Given the description of an element on the screen output the (x, y) to click on. 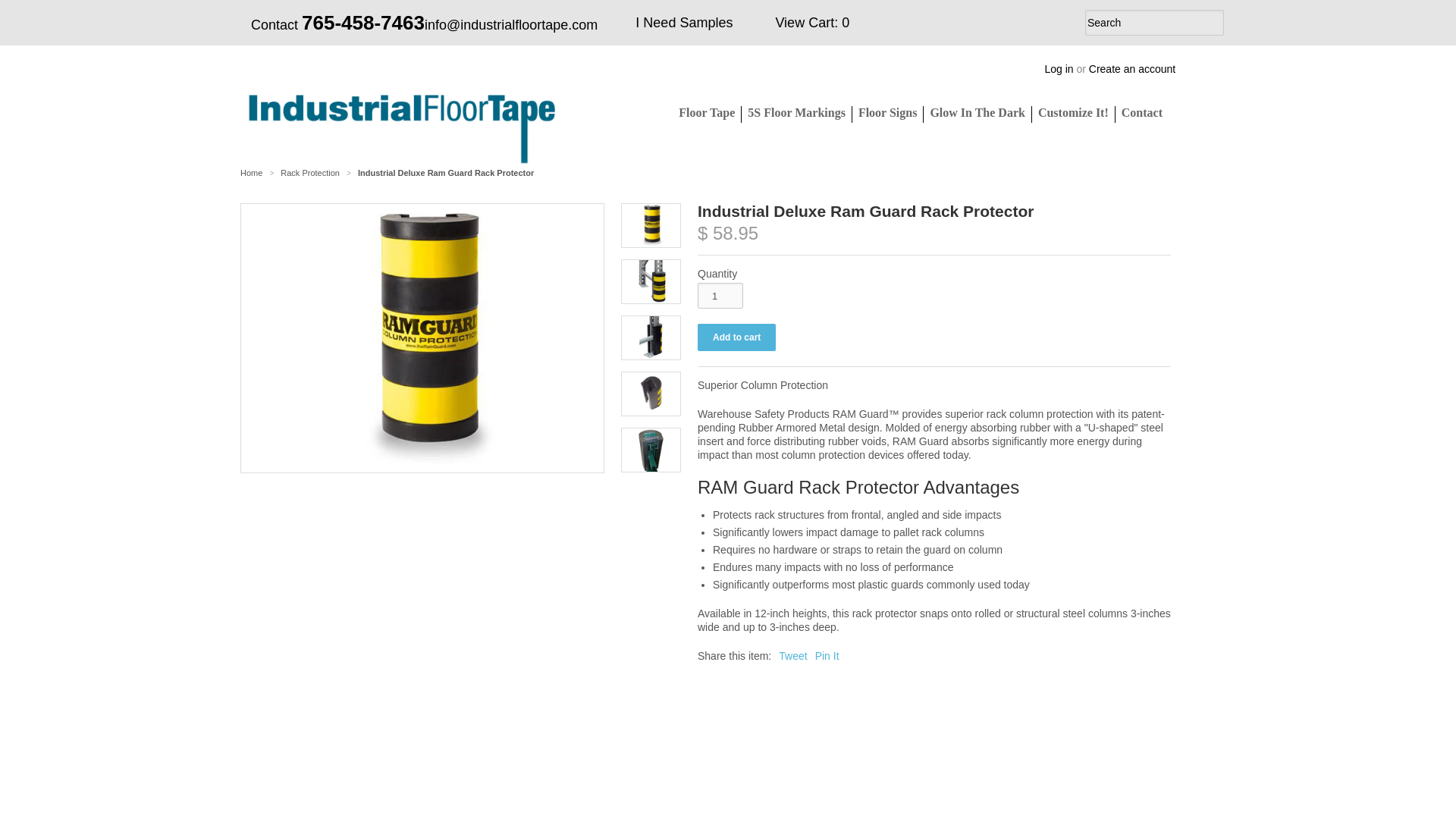
Floor Signs (887, 112)
Rack Protection (311, 172)
Add to cart (736, 337)
Log in (1058, 69)
Create an account (1131, 69)
Contact (1142, 112)
Floor Tape (709, 112)
Shopping Cart (809, 22)
I Need Samples (683, 22)
Rack Protection (311, 172)
Tweet (792, 655)
Home (251, 172)
Pin It (827, 655)
1 (719, 295)
Industrial Floor Tape (251, 172)
